Given the description of an element on the screen output the (x, y) to click on. 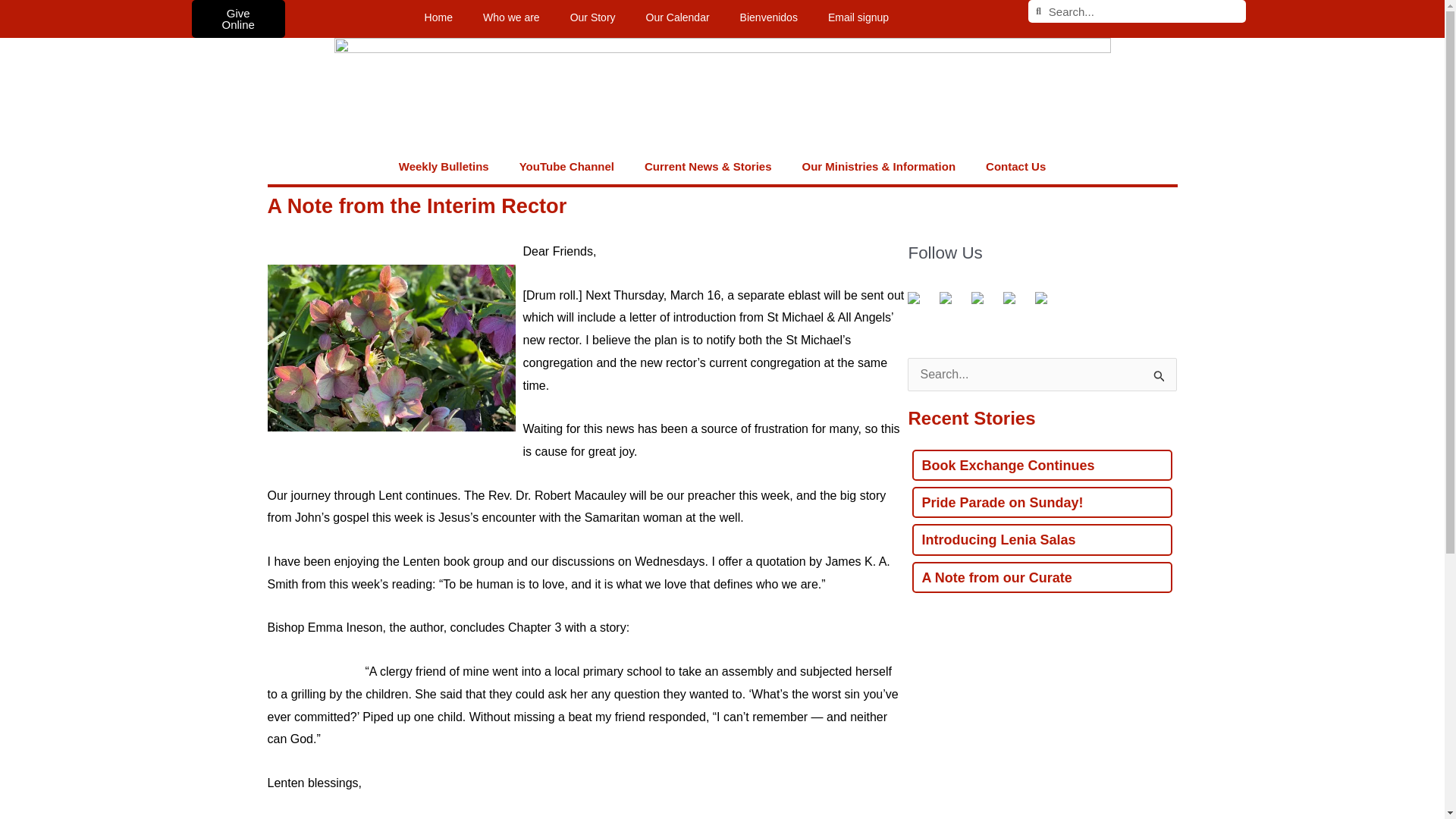
Bienvenidos (768, 17)
YouTube Channel (565, 166)
Subscribe to our RSS feed (951, 303)
Subscribe to our RSS feed (945, 297)
Follow us on Facebook (913, 297)
Follow us on Facebook (919, 303)
Home (438, 17)
Give Online (236, 18)
Our Calendar (677, 17)
Our Story (592, 17)
Contact Us (1016, 166)
Find us on YouTube (977, 297)
Find us on YouTube (983, 303)
Who we are (510, 17)
Weekly Bulletins (443, 166)
